Given the description of an element on the screen output the (x, y) to click on. 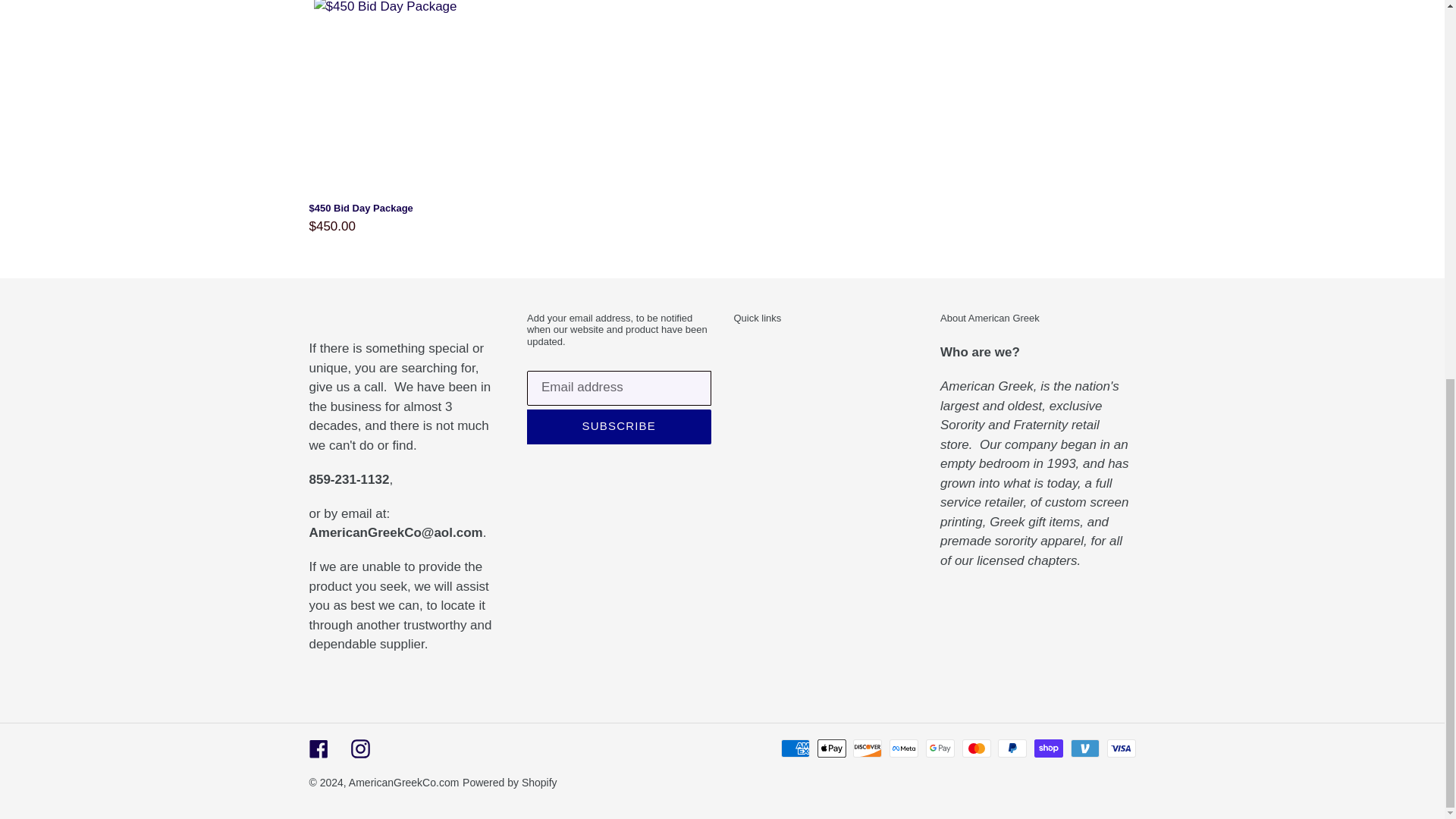
Powered by Shopify (510, 782)
Facebook (318, 748)
SUBSCRIBE (619, 426)
Instagram (359, 748)
AmericanGreekCo.com (404, 782)
